Given the description of an element on the screen output the (x, y) to click on. 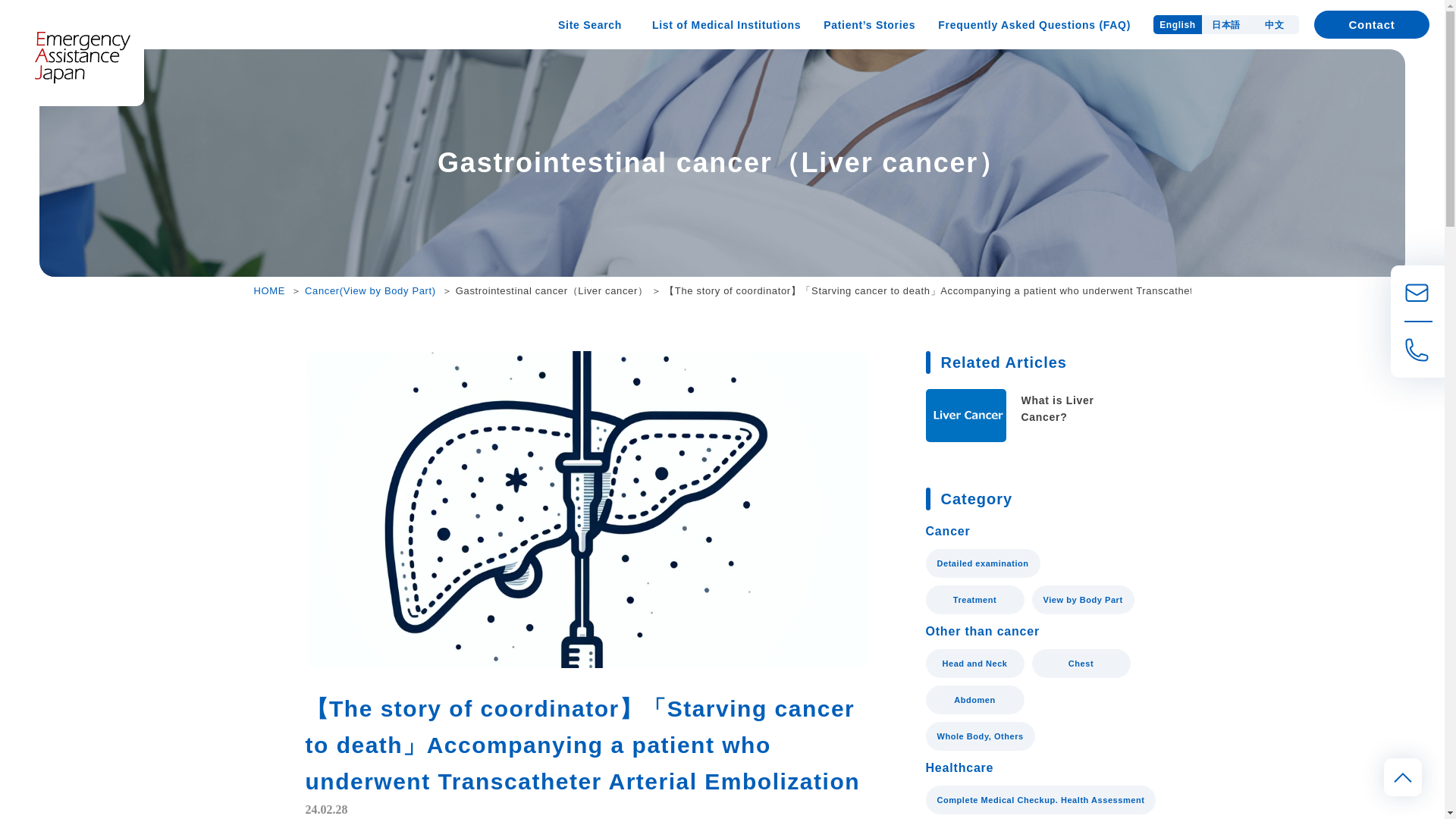
List of Medical Institutions (726, 24)
Japanese (1226, 24)
Detailed examination (981, 563)
Whole Body, Others (978, 736)
What is Liver Cancer? (1031, 415)
Abdomen (973, 699)
Chest (1079, 663)
Chinese (1274, 24)
Contact (1371, 24)
View by Body Part (1082, 599)
English (1177, 24)
Treatment (973, 599)
HOME (269, 290)
Complete Medical Checkup. Health Assessment (1040, 799)
Head and Neck (973, 663)
